Given the description of an element on the screen output the (x, y) to click on. 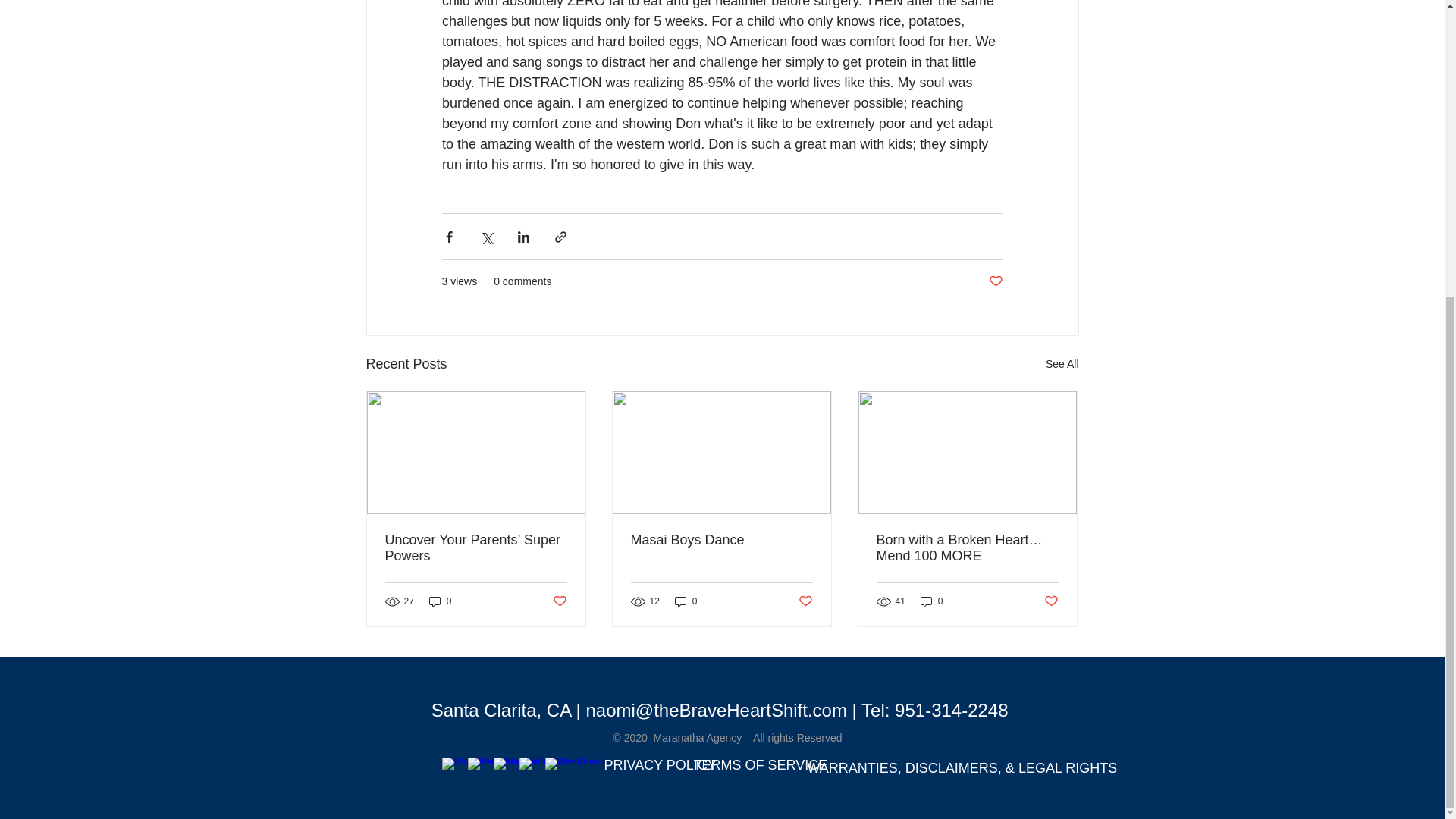
0 (931, 601)
See All (1061, 363)
Post not marked as liked (1050, 600)
Post not marked as liked (558, 600)
Post not marked as liked (804, 600)
Post not marked as liked (995, 281)
Masai Boys Dance (721, 539)
0 (685, 601)
0 (440, 601)
